Given the description of an element on the screen output the (x, y) to click on. 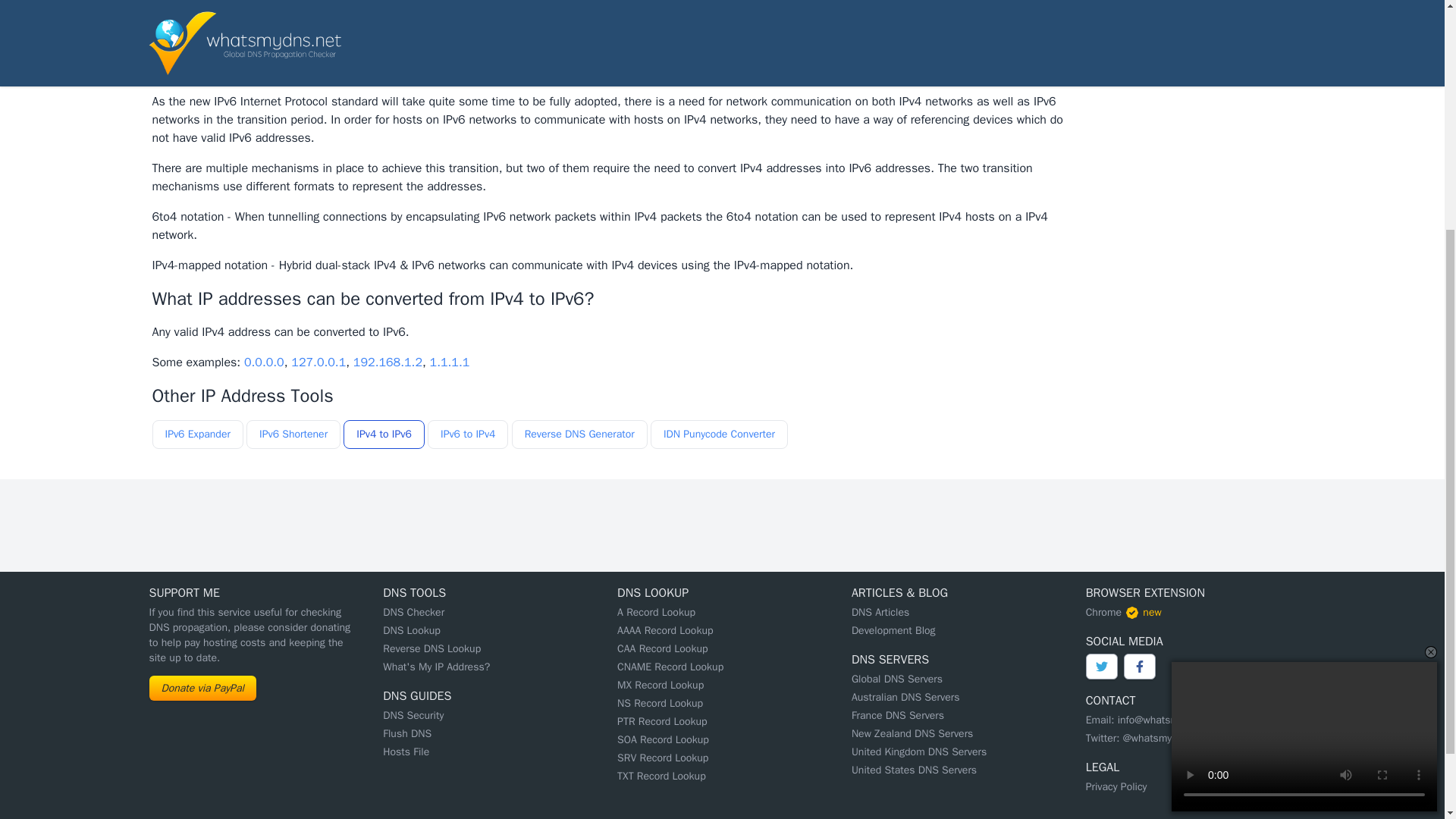
CNAME Record Lookup (670, 666)
DNS Lookup (411, 630)
0.0.0.0 (263, 362)
127.0.0.1 (318, 362)
192.168.1.2 (387, 362)
IDN Punycode Converter (718, 434)
AAAA Record Lookup (665, 630)
Reverse DNS Generator (579, 434)
IPv6 shortened form (554, 6)
DNS Checker (413, 612)
DNS Security (413, 715)
PTR Record Lookup (662, 721)
DNS TOOLS (413, 592)
What's My IP Address? (435, 666)
Reverse DNS Lookup (431, 648)
